Given the description of an element on the screen output the (x, y) to click on. 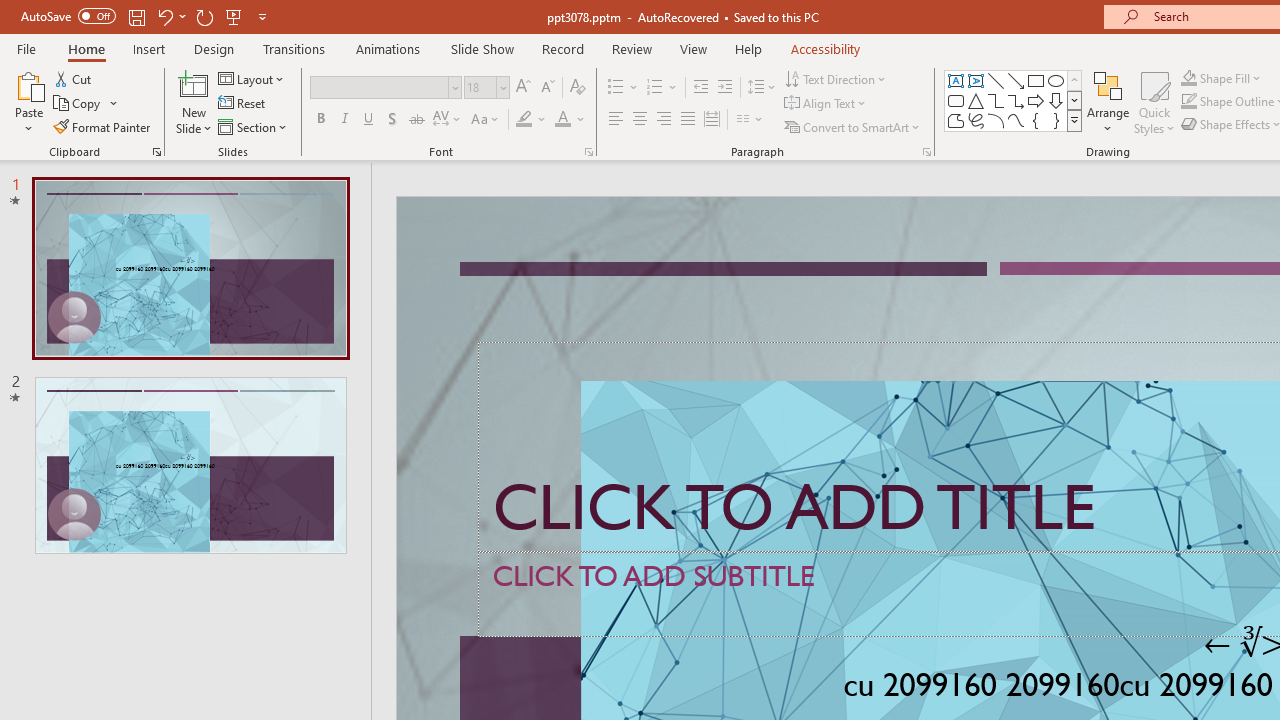
AutomationID: ShapesInsertGallery (1014, 100)
Underline (369, 119)
Copy (85, 103)
Italic (344, 119)
Copy (78, 103)
Text Highlight Color (531, 119)
Quick Styles (1154, 102)
Shadow (392, 119)
Text Box (955, 80)
Distributed (712, 119)
Freeform: Shape (955, 120)
Arrow: Down (1055, 100)
